Given the description of an element on the screen output the (x, y) to click on. 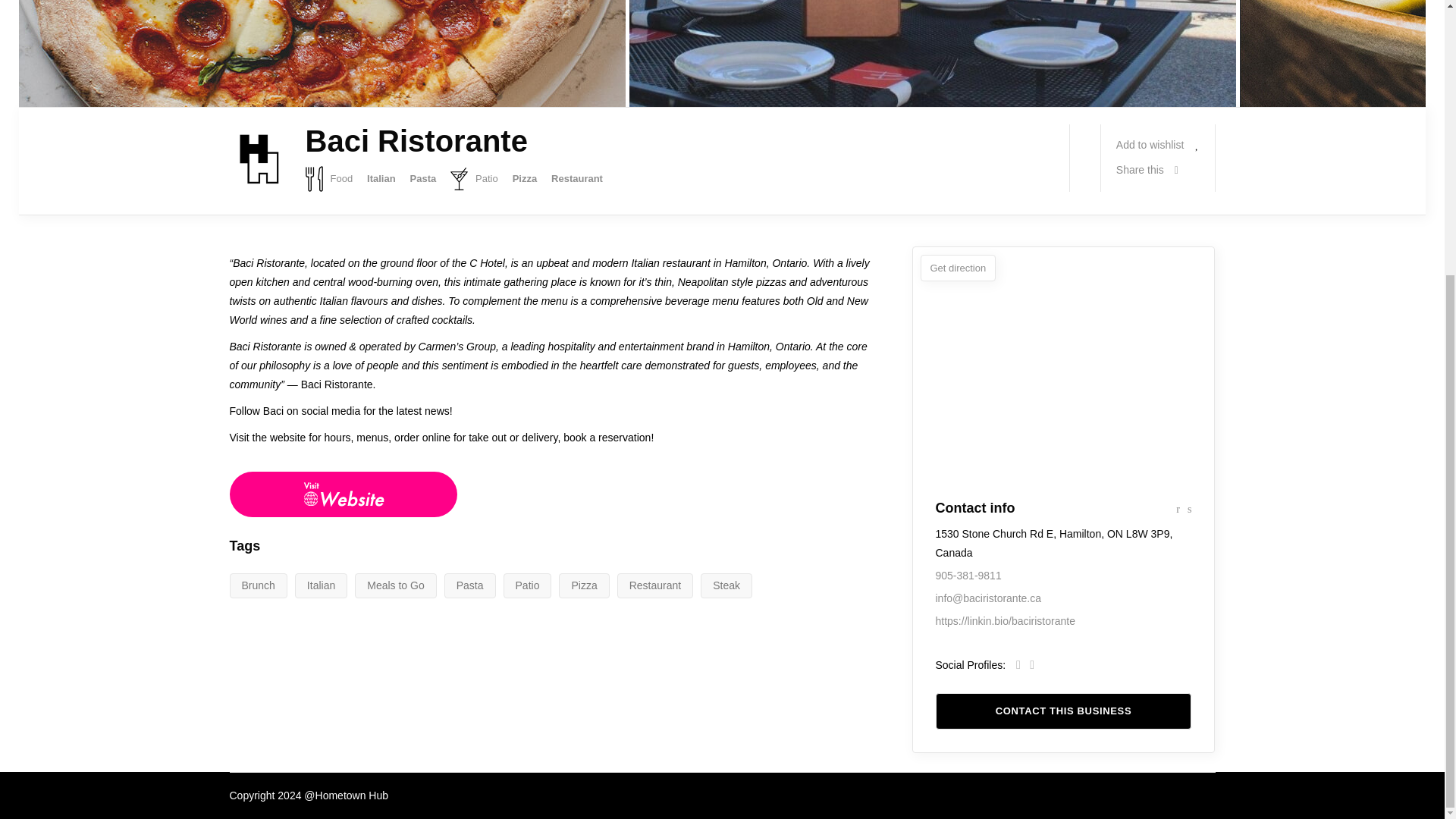
Pizza (524, 178)
Patio (473, 178)
Restaurant (576, 178)
Share this (1146, 169)
Pasta (422, 178)
Add to wishlist (1157, 144)
Italian (381, 178)
Food (328, 178)
